Given the description of an element on the screen output the (x, y) to click on. 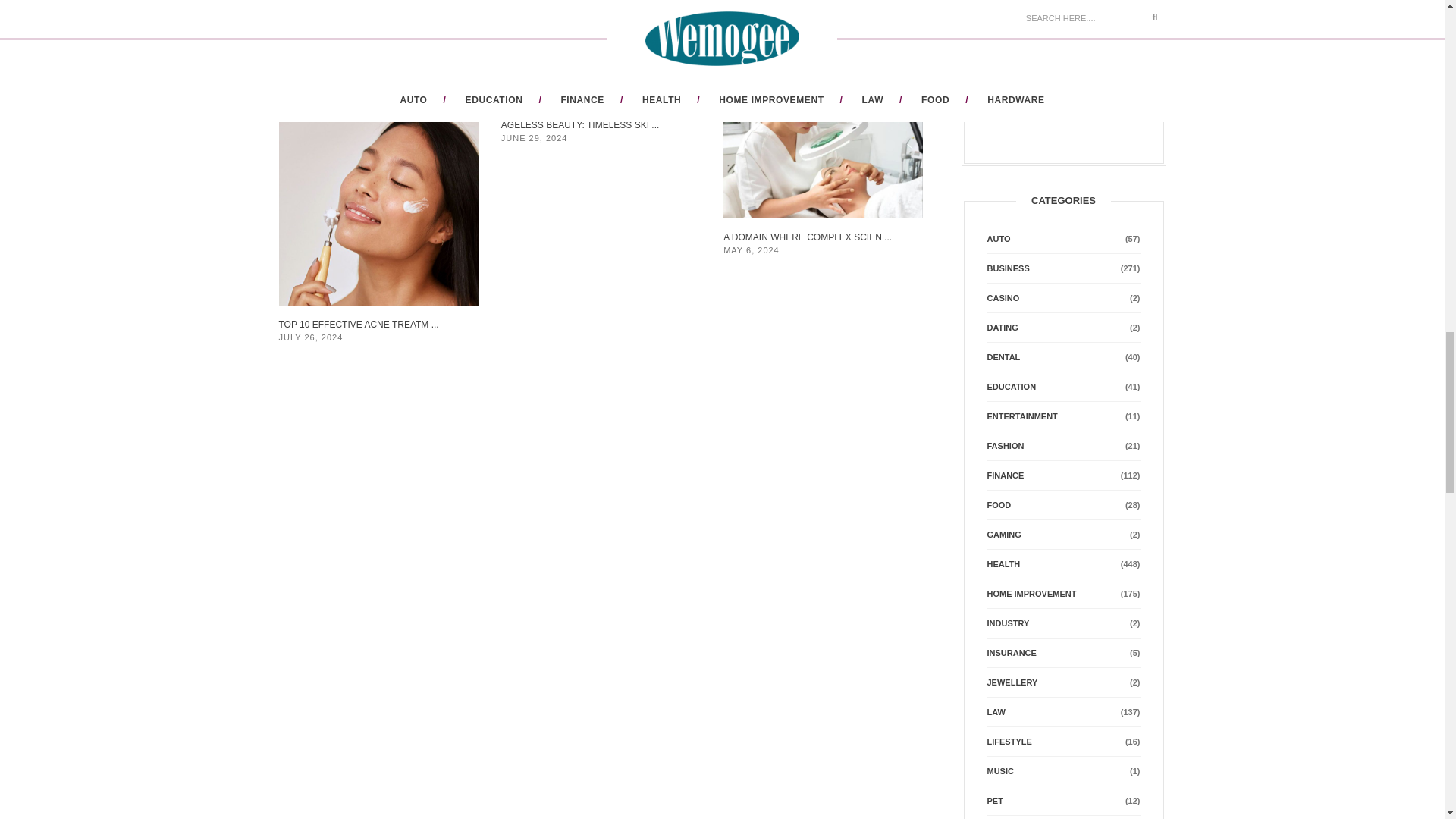
AGELESS BEAUTY: TIMELESS SKI ... (579, 124)
A DOMAIN WHERE COMPLEX SCIEN ... (807, 236)
TOP 10 EFFECTIVE ACNE TREATM ... (359, 324)
Subscribe now (1026, 97)
